Given the description of an element on the screen output the (x, y) to click on. 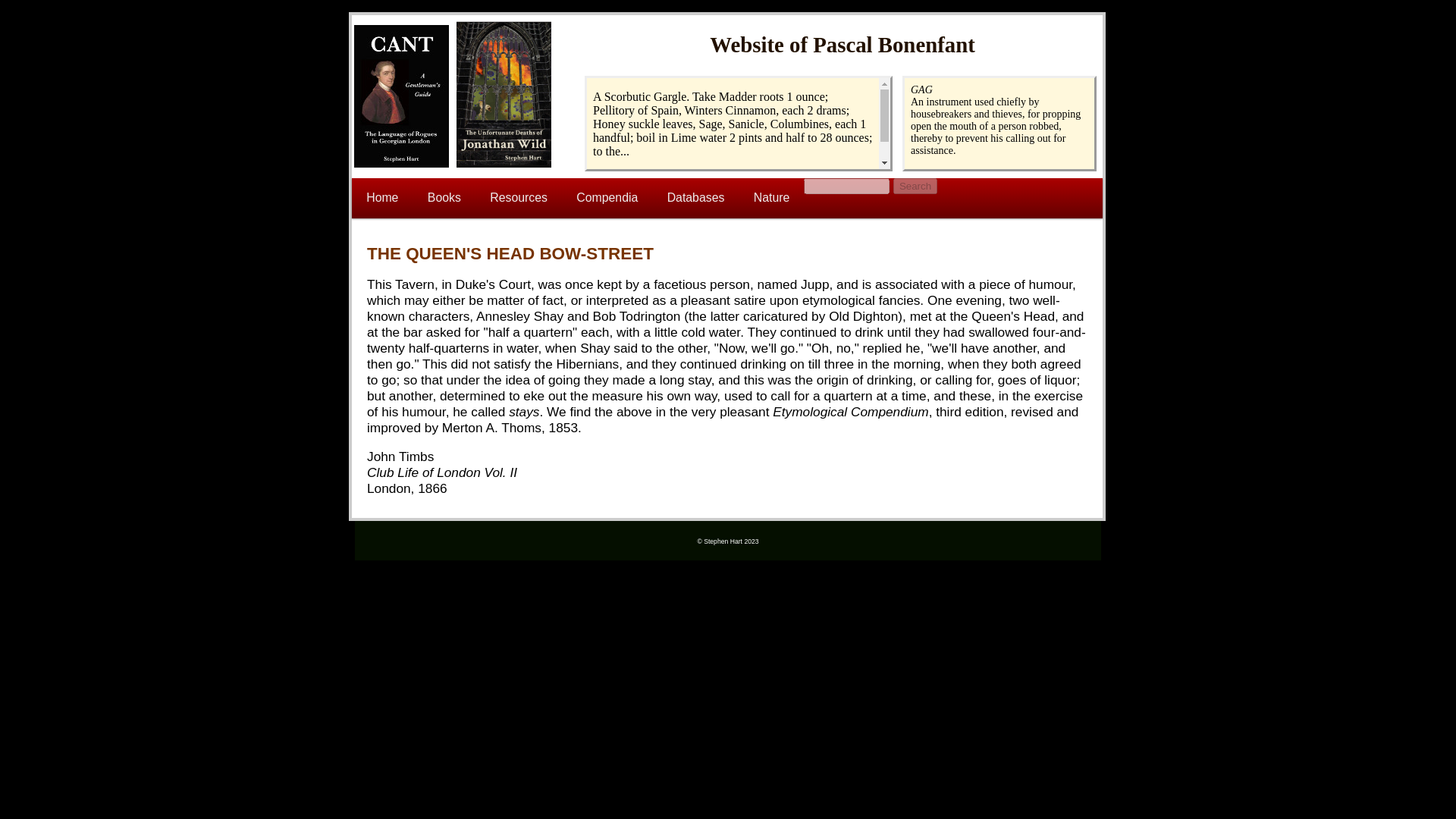
Search (915, 186)
Databases (695, 198)
Home (382, 198)
Compendia (607, 198)
Resources (519, 198)
Books (444, 198)
